Given the description of an element on the screen output the (x, y) to click on. 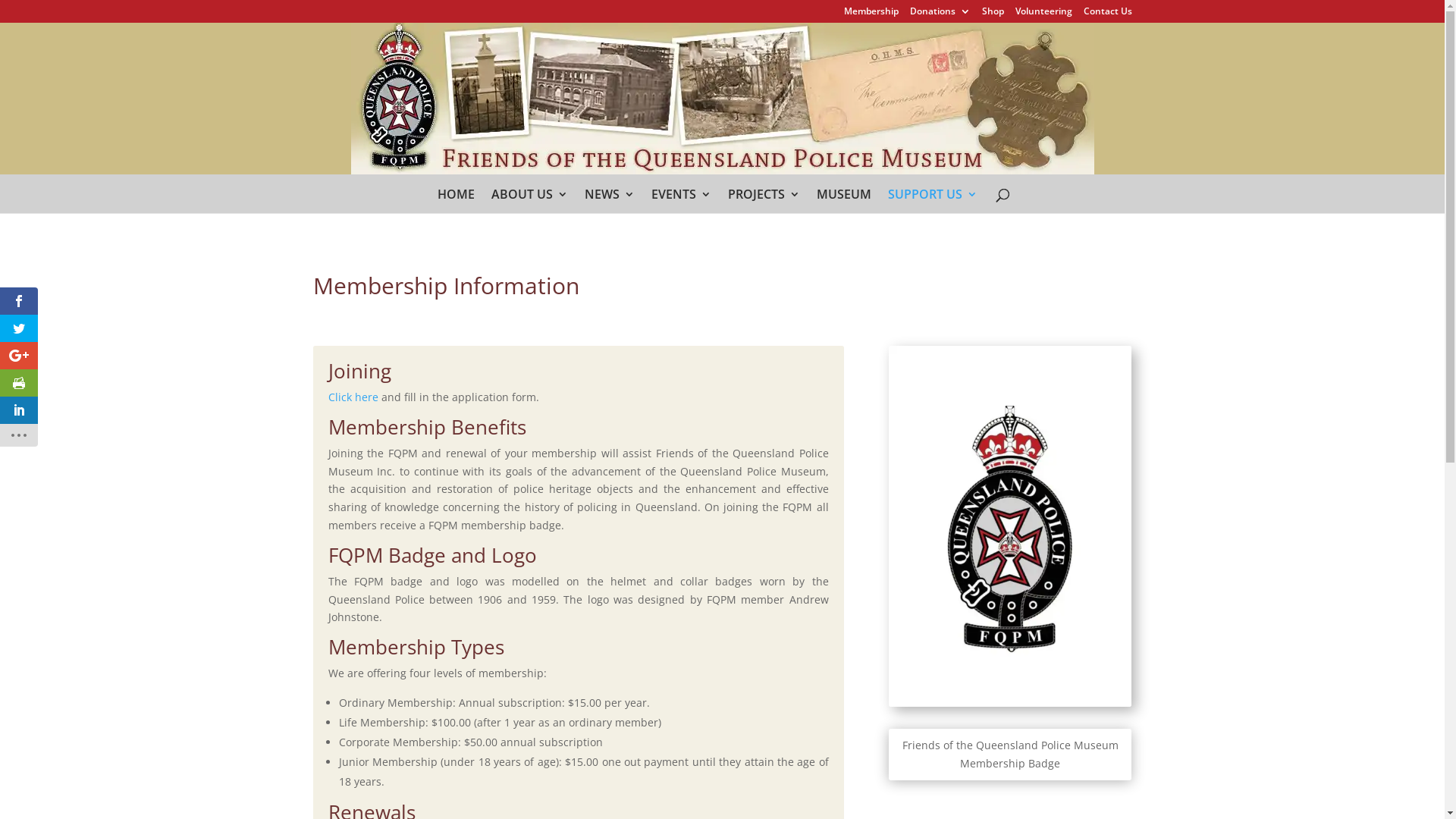
NEWS Element type: text (608, 207)
PROJECTS Element type: text (764, 207)
Volunteering Element type: text (1042, 14)
MUSEUM Element type: text (842, 207)
ABOUT US Element type: text (529, 207)
Donations Element type: text (940, 14)
EVENTS Element type: text (680, 207)
SUPPORT US Element type: text (931, 207)
Shop Element type: text (992, 14)
HOME Element type: text (454, 207)
Click here Element type: text (352, 396)
Contact Us Element type: text (1106, 14)
Membership Element type: text (870, 14)
